Given the description of an element on the screen output the (x, y) to click on. 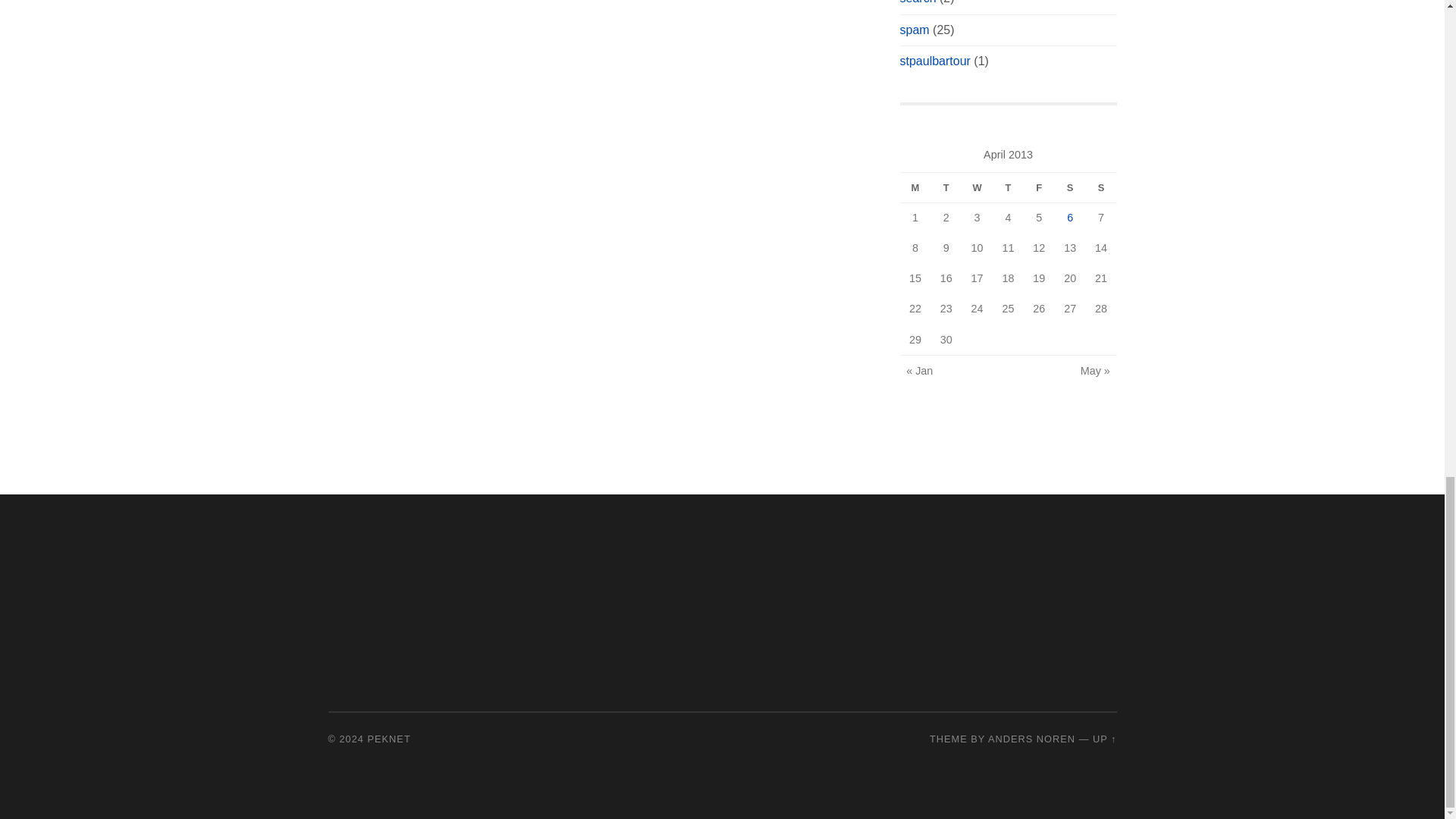
Wednesday (976, 187)
Sunday (1101, 187)
Saturday (1070, 187)
To the top (1104, 738)
spam (913, 29)
Tuesday (945, 187)
Thursday (1007, 187)
Monday (914, 187)
search (917, 2)
Friday (1038, 187)
